Given the description of an element on the screen output the (x, y) to click on. 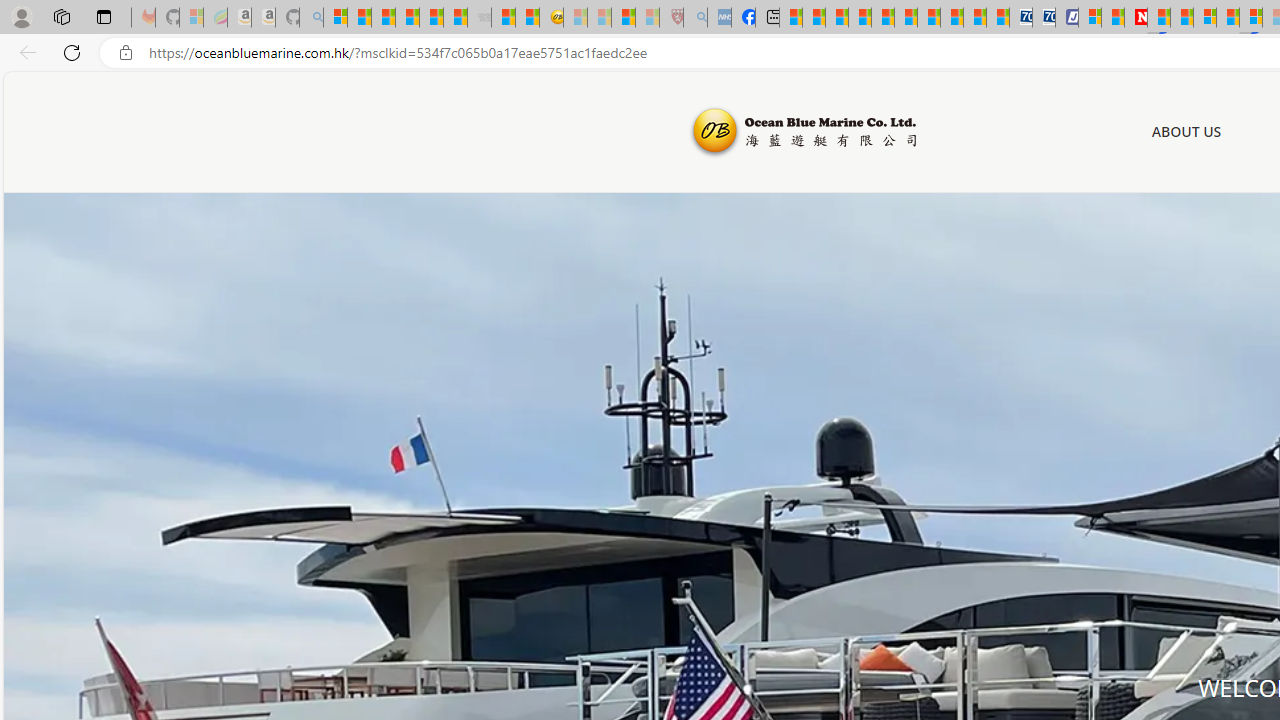
12 Popular Science Lies that Must be Corrected - Sleeping (647, 17)
Ocean Blue Marine (801, 132)
The Weather Channel - MSN (383, 17)
Ocean Blue Marine (801, 132)
